Given the description of an element on the screen output the (x, y) to click on. 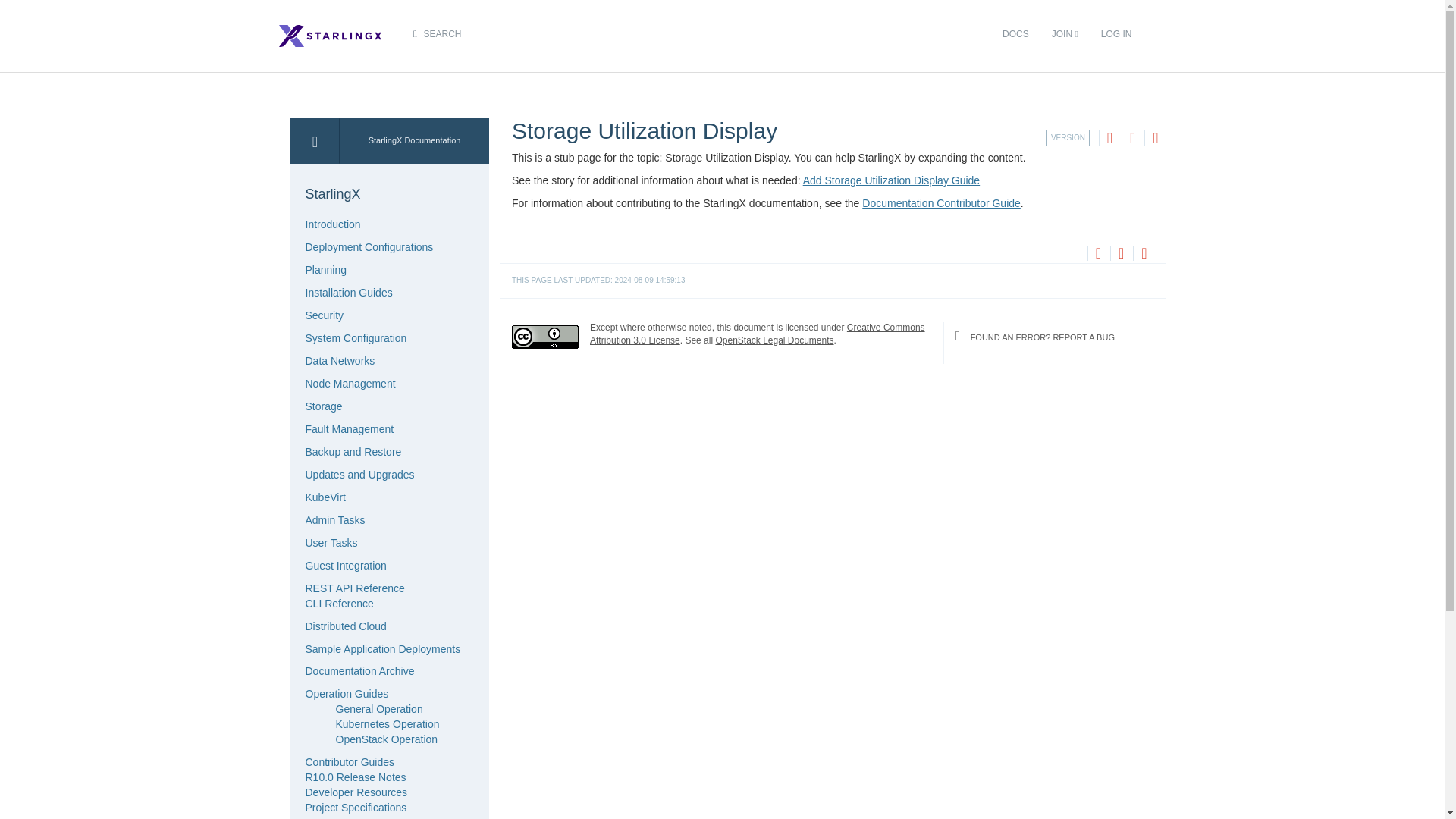
System Configuration (355, 337)
StarlingX Documentation (414, 140)
OpenStack Legal Documents (773, 339)
Documentation Contributor Guide (940, 203)
Security (323, 315)
JOIN (1065, 34)
Deployment Configurations (368, 246)
Creative Commons Attribution 3.0 License (756, 332)
FOUND AN ERROR? REPORT A BUG (1054, 336)
StarlingX (385, 194)
